Given the description of an element on the screen output the (x, y) to click on. 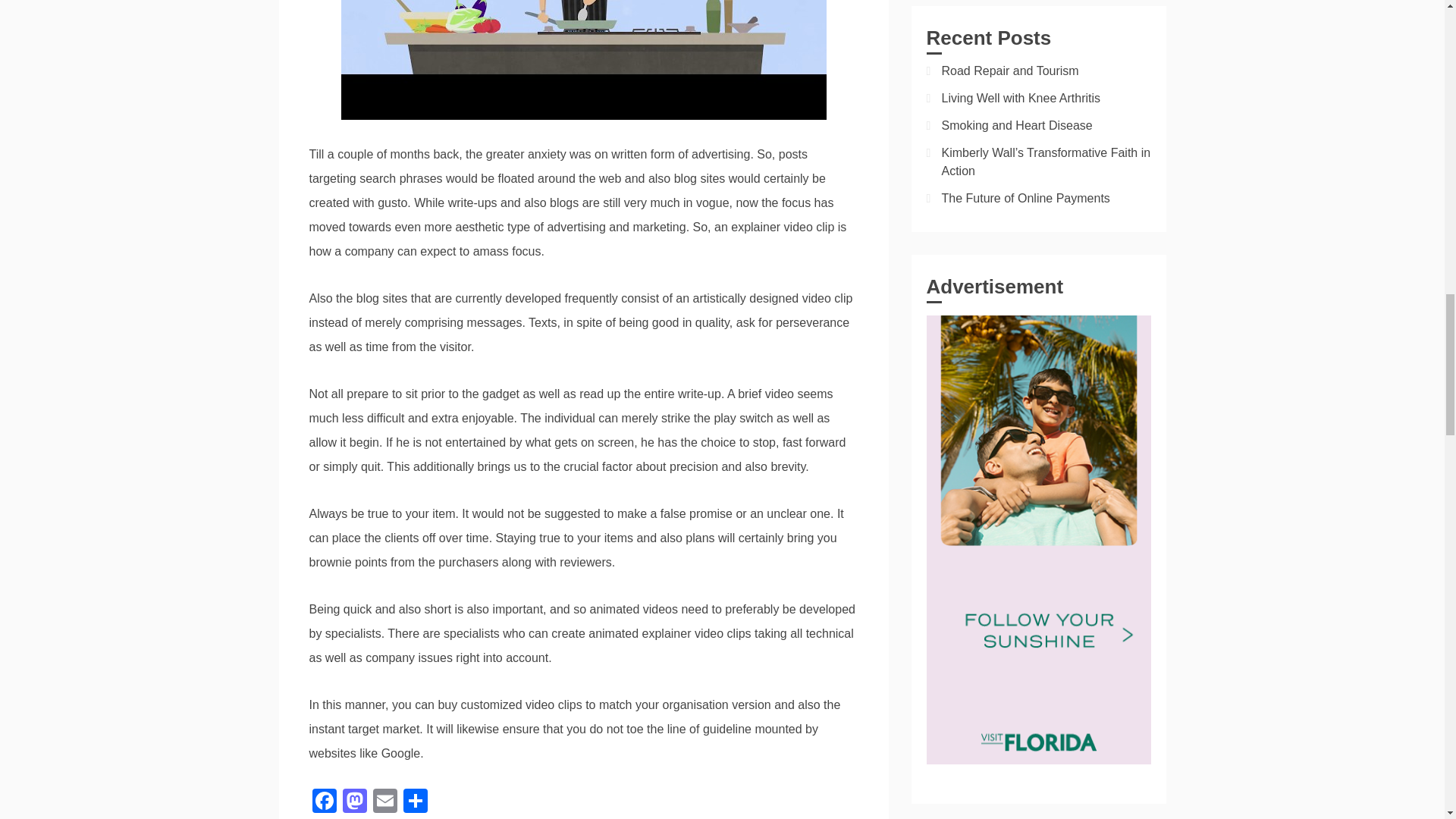
Email (384, 802)
Facebook (323, 802)
Share (415, 802)
Mastodon (354, 802)
Email (384, 802)
Mastodon (354, 802)
Facebook (323, 802)
